Given the description of an element on the screen output the (x, y) to click on. 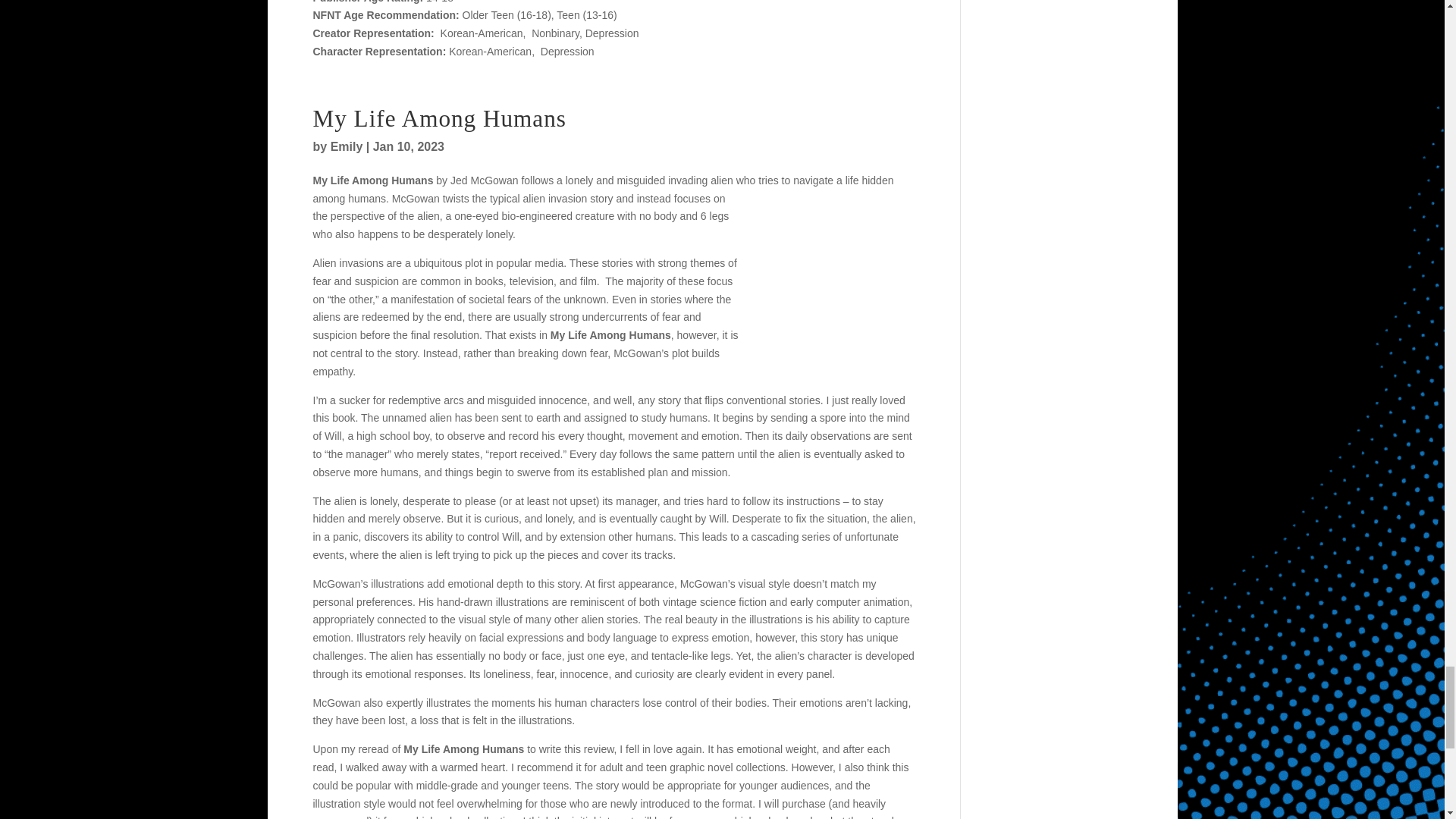
Posts by Emily (346, 146)
